Given the description of an element on the screen output the (x, y) to click on. 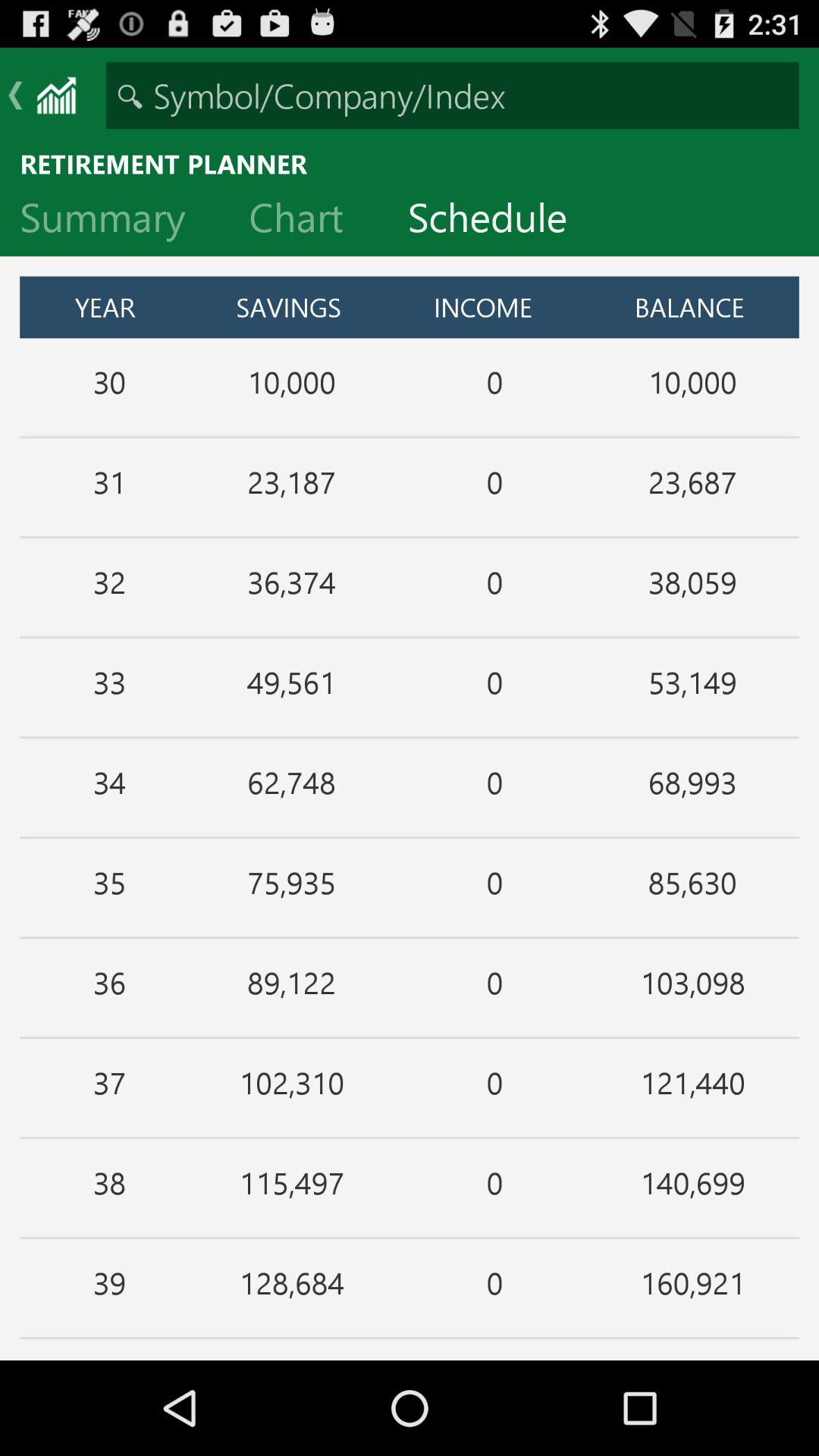
click on the icon on left of search icon (55, 95)
